Given the description of an element on the screen output the (x, y) to click on. 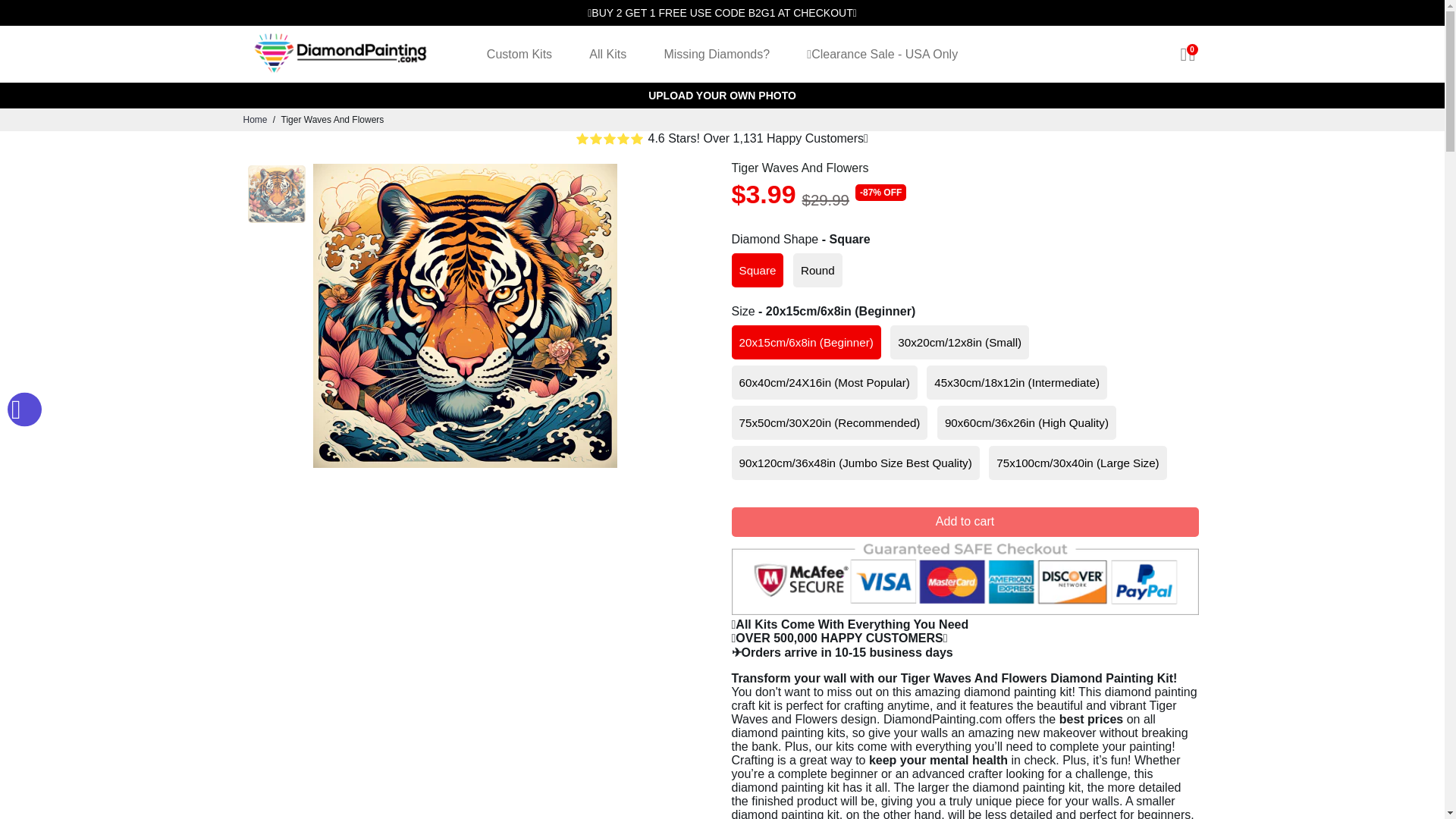
Home (254, 119)
Custom Kits (519, 53)
UPLOAD YOUR OWN PHOTO (721, 95)
Home (254, 119)
Missing Diamonds? (715, 53)
Custom Diamond Painting (721, 95)
Add to cart (964, 521)
All Kits (607, 53)
